Given the description of an element on the screen output the (x, y) to click on. 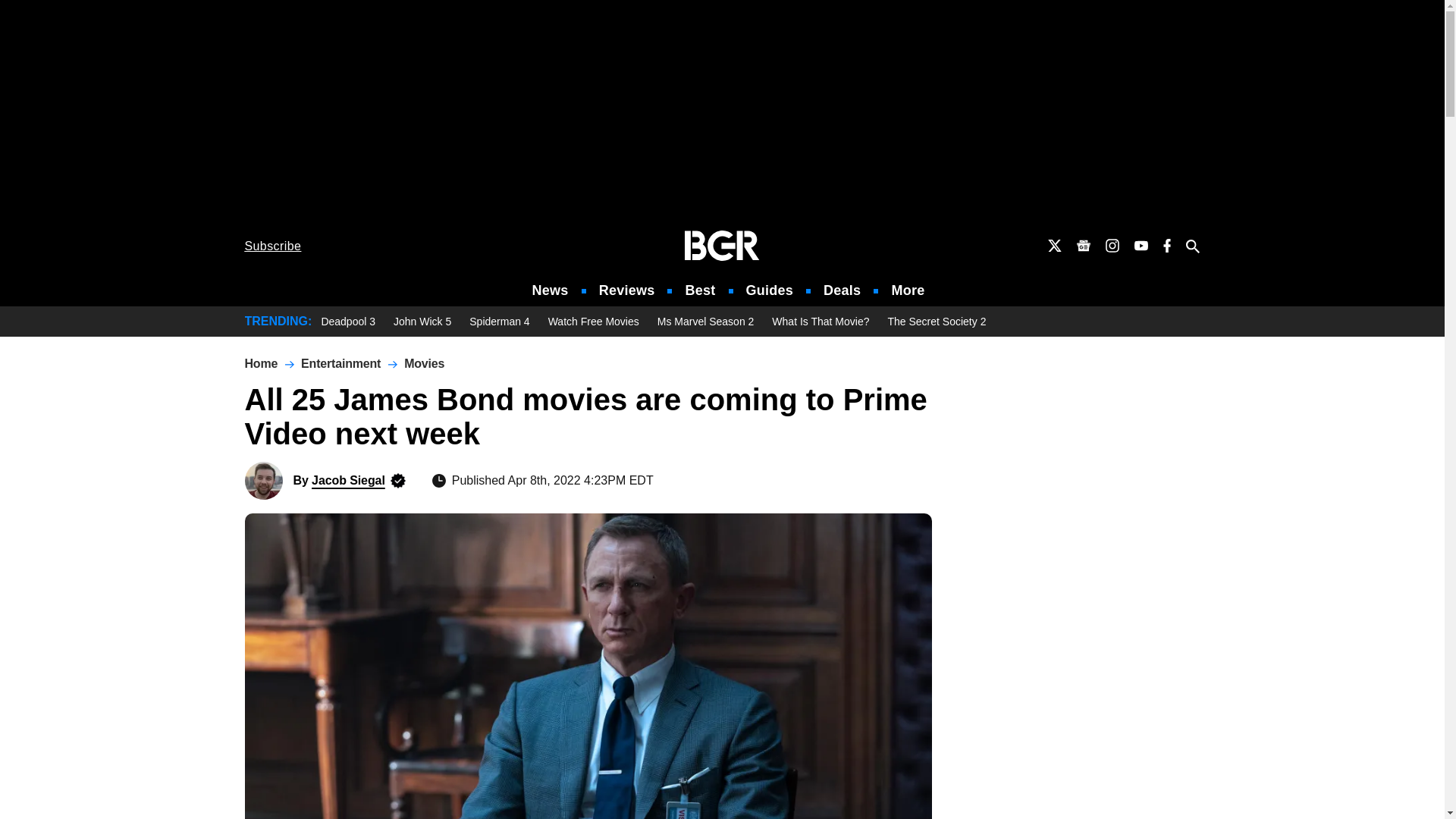
Deals (842, 290)
News (550, 290)
Guides (769, 290)
Best (699, 290)
Subscribe (272, 245)
Reviews (626, 290)
Posts by Jacob Siegal (348, 480)
More (907, 290)
